Given the description of an element on the screen output the (x, y) to click on. 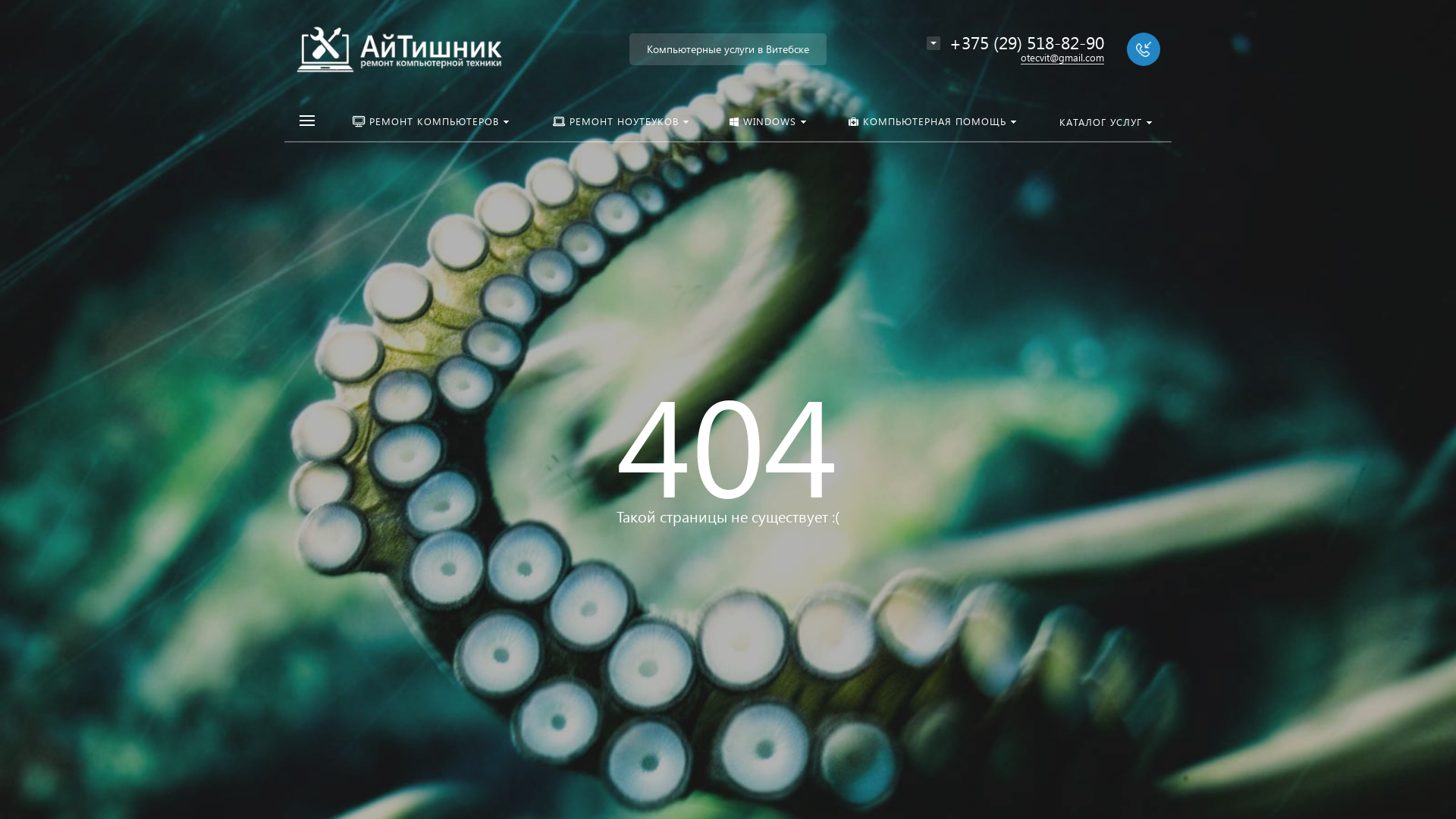
otecvit@gmail.com Element type: text (1062, 57)
WINDOWS Element type: text (767, 120)
